Given the description of an element on the screen output the (x, y) to click on. 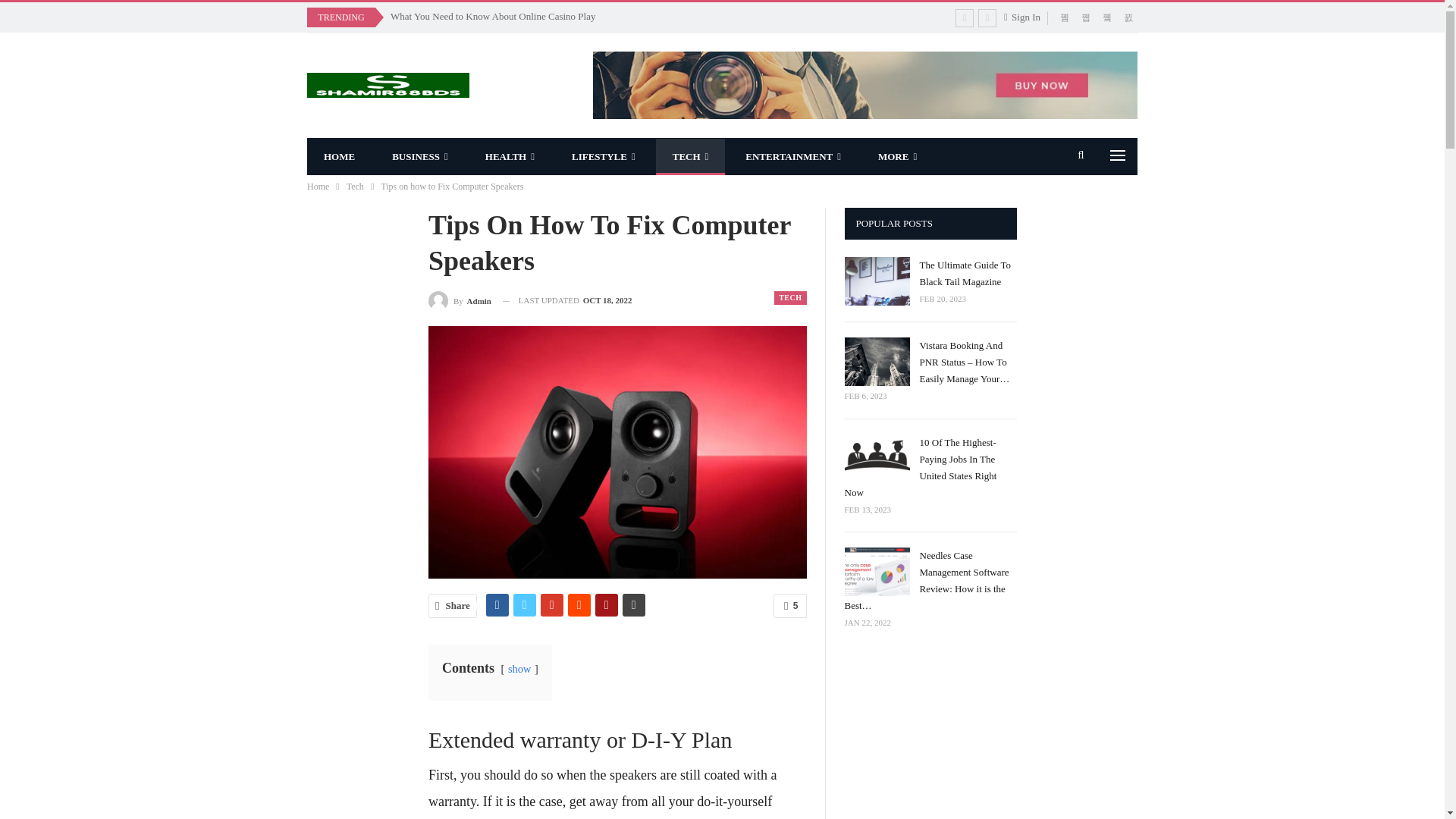
Browse Author Articles (460, 300)
Sign In (1025, 17)
The Ultimate Guide To Black Tail Magazine (877, 281)
